Given the description of an element on the screen output the (x, y) to click on. 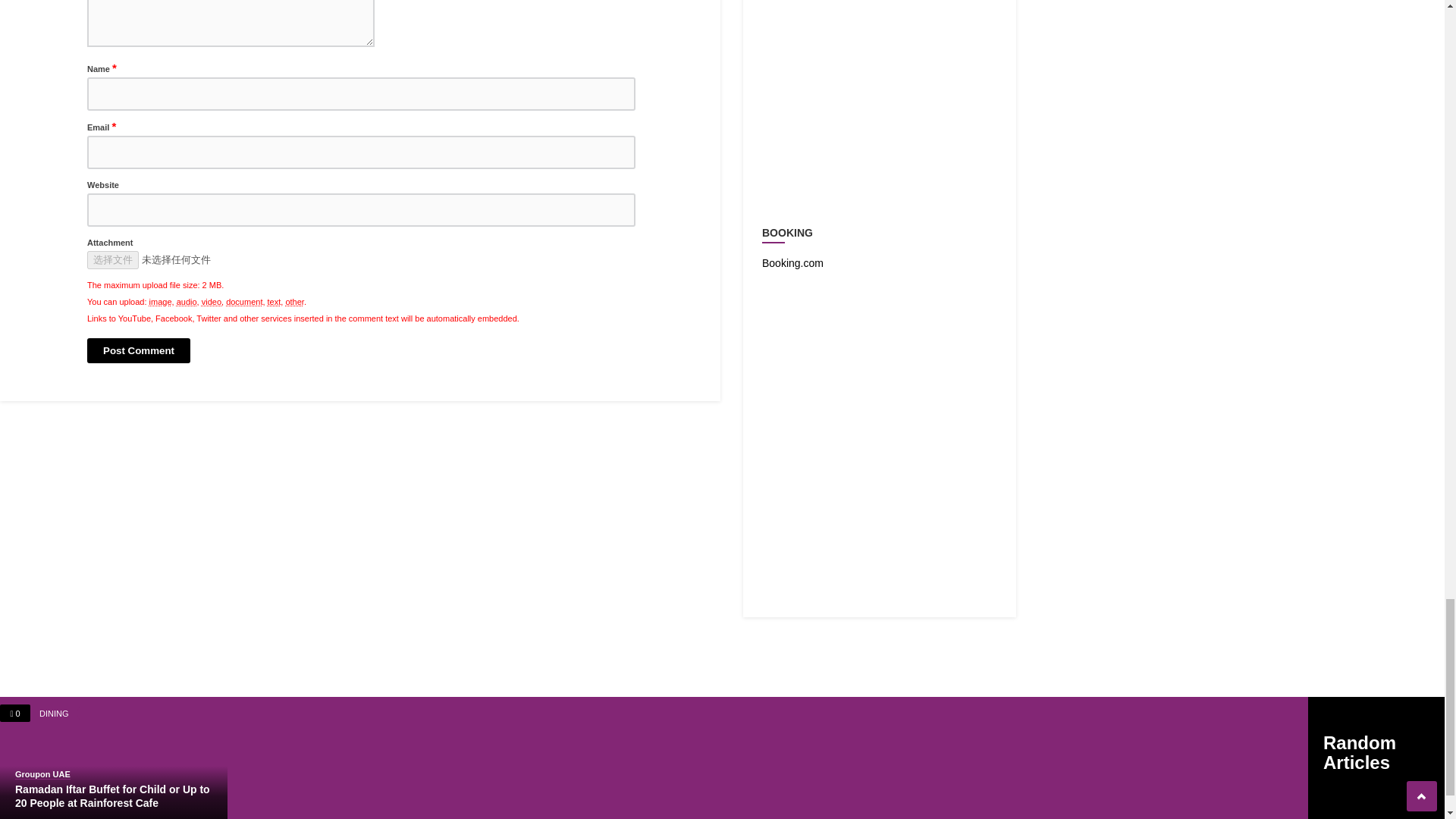
aac, flac (186, 301)
3gp, 3gpp, 3g2 (211, 301)
Post Comment (138, 350)
